Given the description of an element on the screen output the (x, y) to click on. 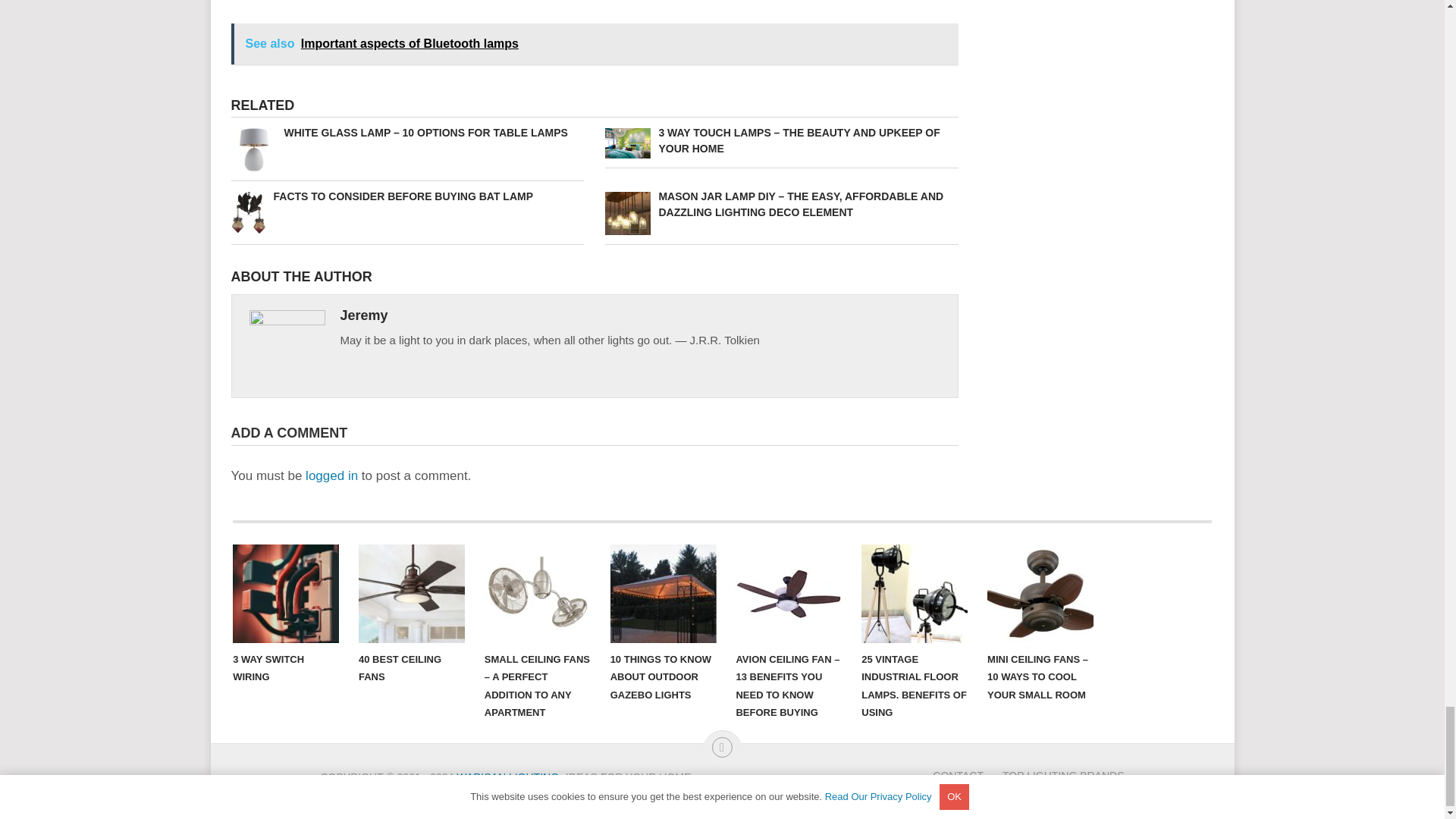
FACTS TO CONSIDER BEFORE BUYING BAT LAMP (406, 196)
See also  Important aspects of Bluetooth lamps (594, 43)
Facts to consider before buying Bat lamp (406, 196)
logged in (331, 475)
